Given the description of an element on the screen output the (x, y) to click on. 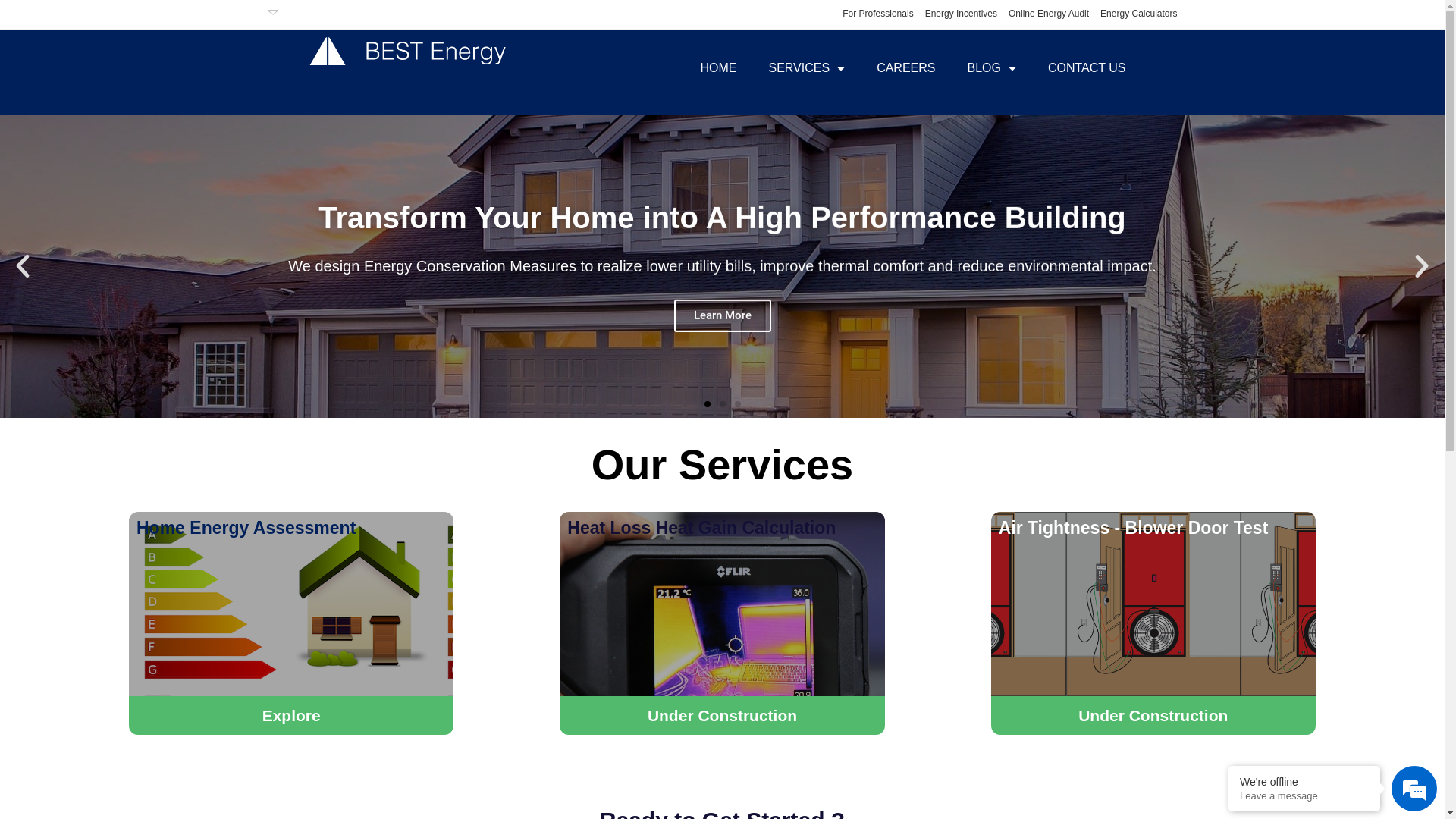
BLOG Element type: text (990, 68)
HOME Element type: text (718, 68)
Heat Loss Heat Gain Calculation Element type: text (701, 527)
SERVICES Element type: text (806, 68)
Online Energy Audit Element type: text (1048, 14)
CAREERS Element type: text (905, 68)
For Professionals Element type: text (877, 14)
CONTACT US Element type: text (1086, 68)
Energy Incentives Element type: text (961, 14)
Energy Calculators Element type: text (1138, 14)
Explore Element type: text (291, 715)
Under Construction Element type: text (722, 715)
